Given the description of an element on the screen output the (x, y) to click on. 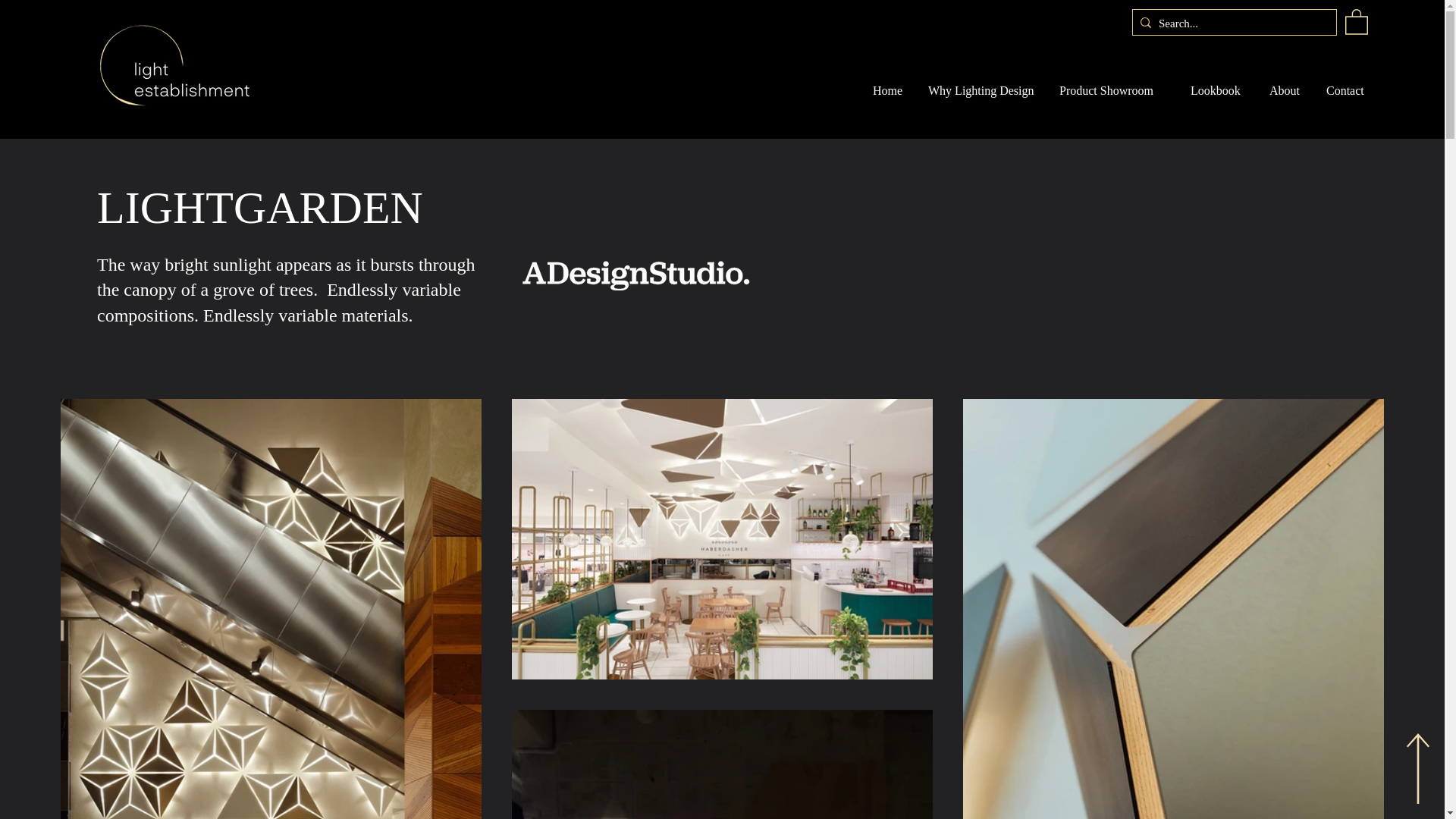
Contact (1349, 90)
About (1285, 90)
Home (889, 90)
Why Lighting Design (982, 90)
Product Showroom (1113, 90)
Lookbook (1218, 90)
